Given the description of an element on the screen output the (x, y) to click on. 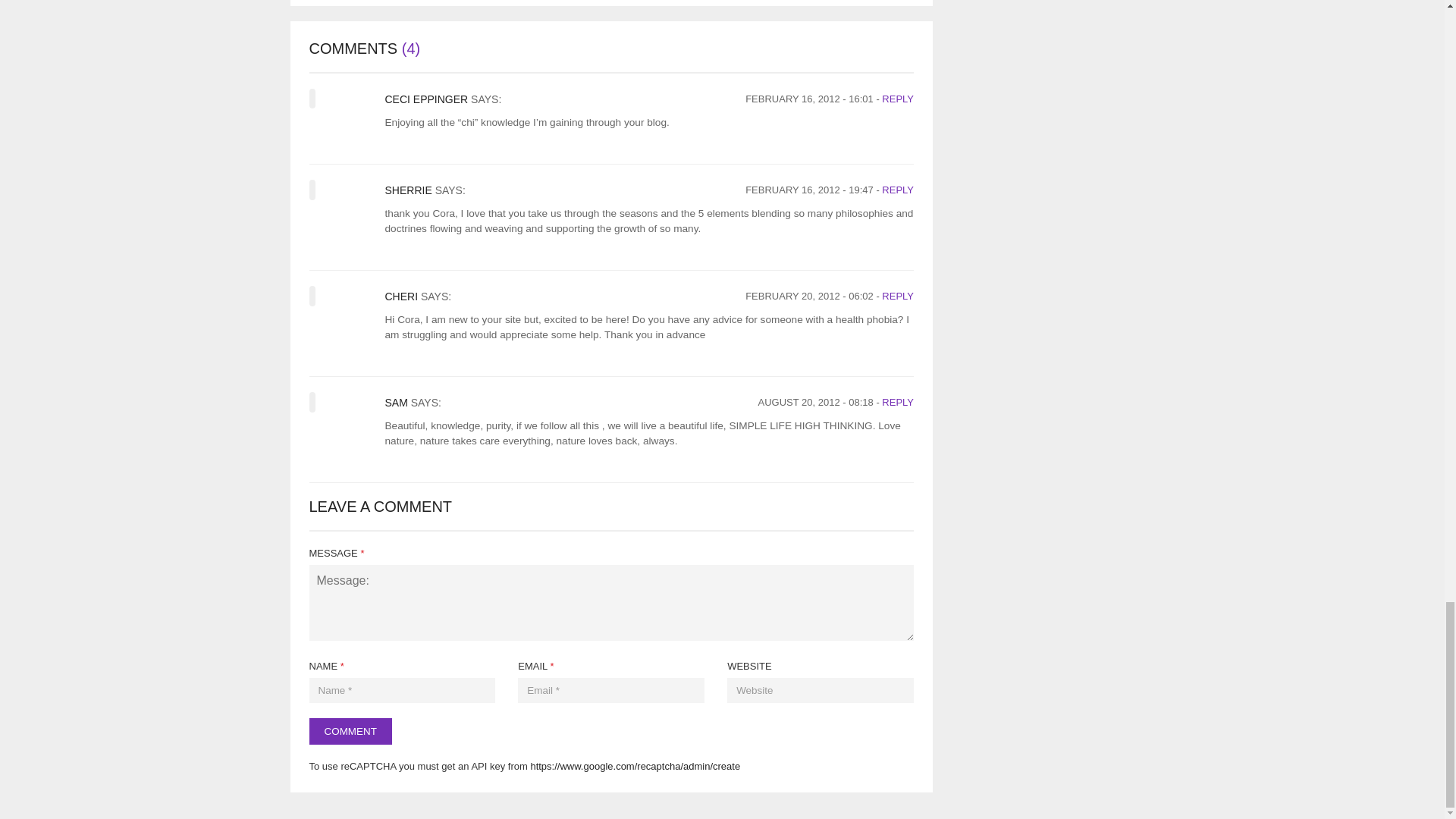
Comment (349, 731)
